Given the description of an element on the screen output the (x, y) to click on. 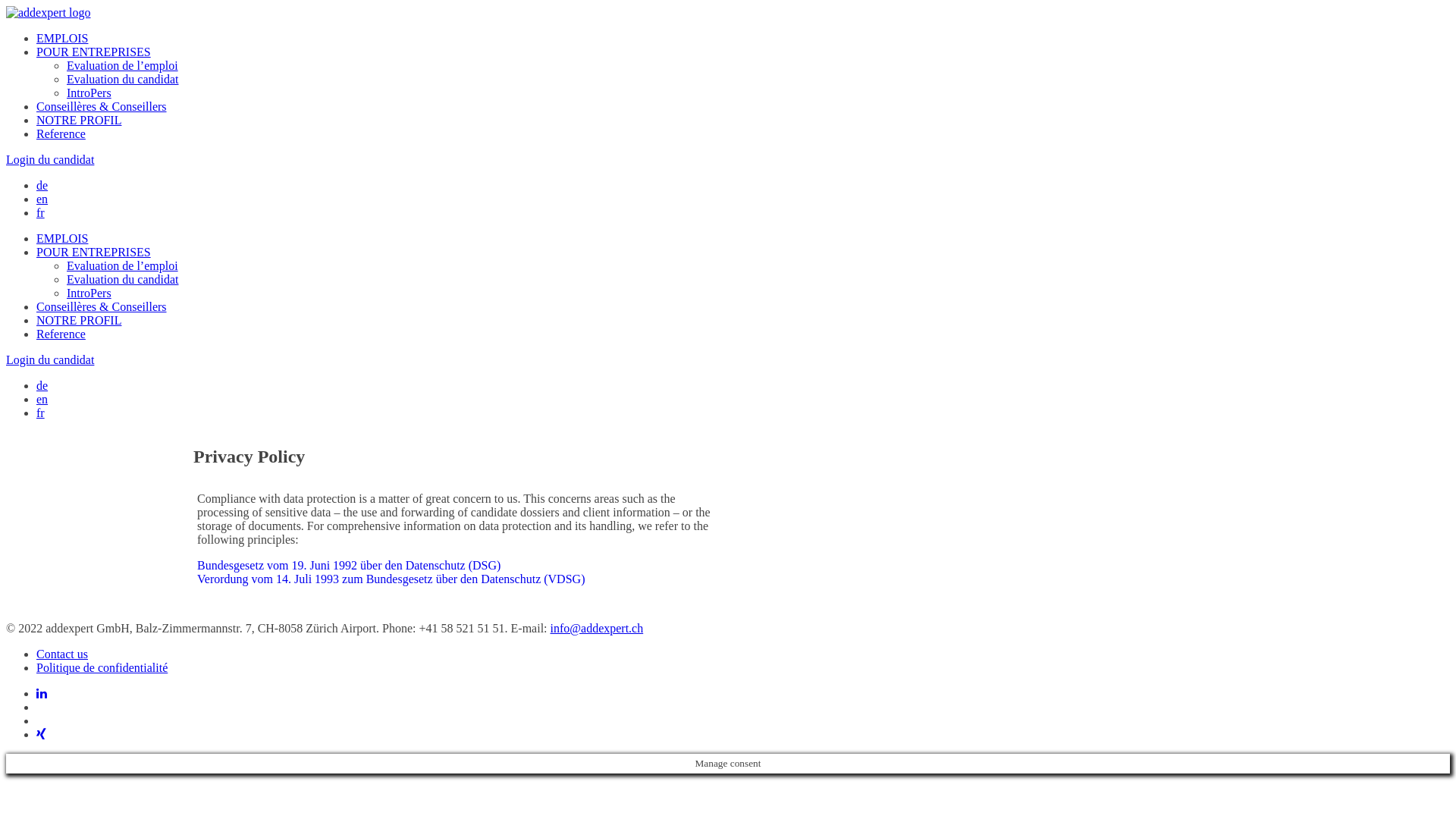
Evaluation du candidat Element type: text (122, 279)
en Element type: text (41, 398)
EMPLOIS Element type: text (61, 37)
IntroPers Element type: text (88, 292)
POUR ENTREPRISES Element type: text (93, 251)
NOTRE PROFIL Element type: text (78, 319)
Reference Element type: text (60, 133)
de Element type: text (41, 184)
POUR ENTREPRISES Element type: text (93, 51)
de Element type: text (41, 385)
fr Element type: text (40, 212)
Evaluation du candidat Element type: text (122, 78)
Contact us Element type: text (61, 653)
fr Element type: text (40, 412)
Reference Element type: text (60, 333)
Login du candidat Element type: text (50, 159)
IntroPers Element type: text (88, 92)
en Element type: text (41, 198)
NOTRE PROFIL Element type: text (78, 119)
Login du candidat Element type: text (50, 359)
EMPLOIS Element type: text (61, 238)
info@addexpert.ch Element type: text (596, 627)
